Given the description of an element on the screen output the (x, y) to click on. 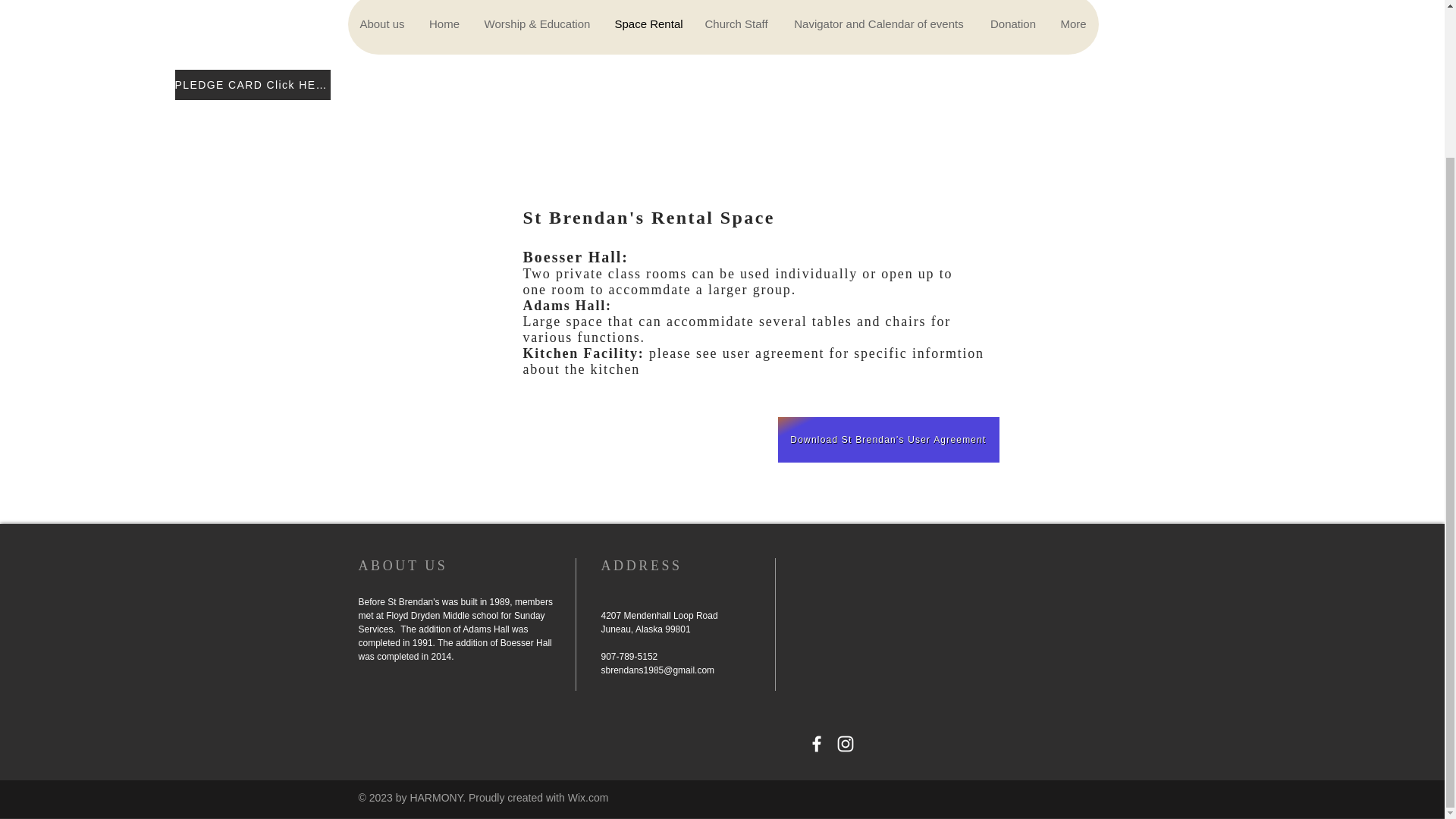
Log In (1016, 9)
Church Staff (735, 27)
Space Rental (647, 27)
PLEDGE CARD Click HERE (252, 84)
Donation (1013, 27)
Home (443, 27)
About us (381, 27)
Navigator and Calendar of events (878, 27)
Download St Brendan's User Agreement (887, 439)
Wix.com (587, 797)
